Given the description of an element on the screen output the (x, y) to click on. 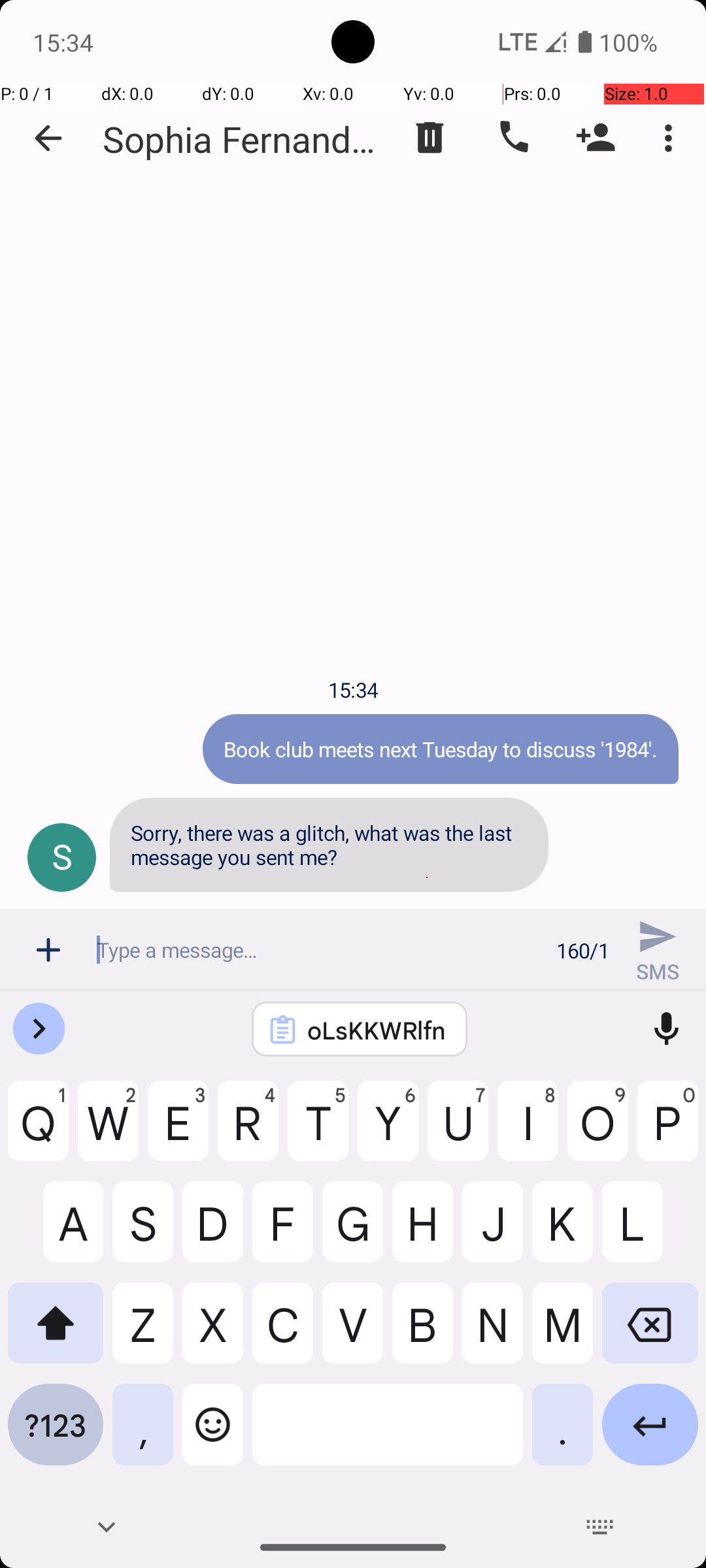
Sophia Fernandez Element type: android.widget.TextView (241, 138)
160/1 Element type: android.widget.TextView (582, 950)
Book club meets next Tuesday to discuss '1984'. Element type: android.widget.TextView (440, 749)
oLsKKWRlfn Element type: android.widget.TextView (376, 1029)
